Given the description of an element on the screen output the (x, y) to click on. 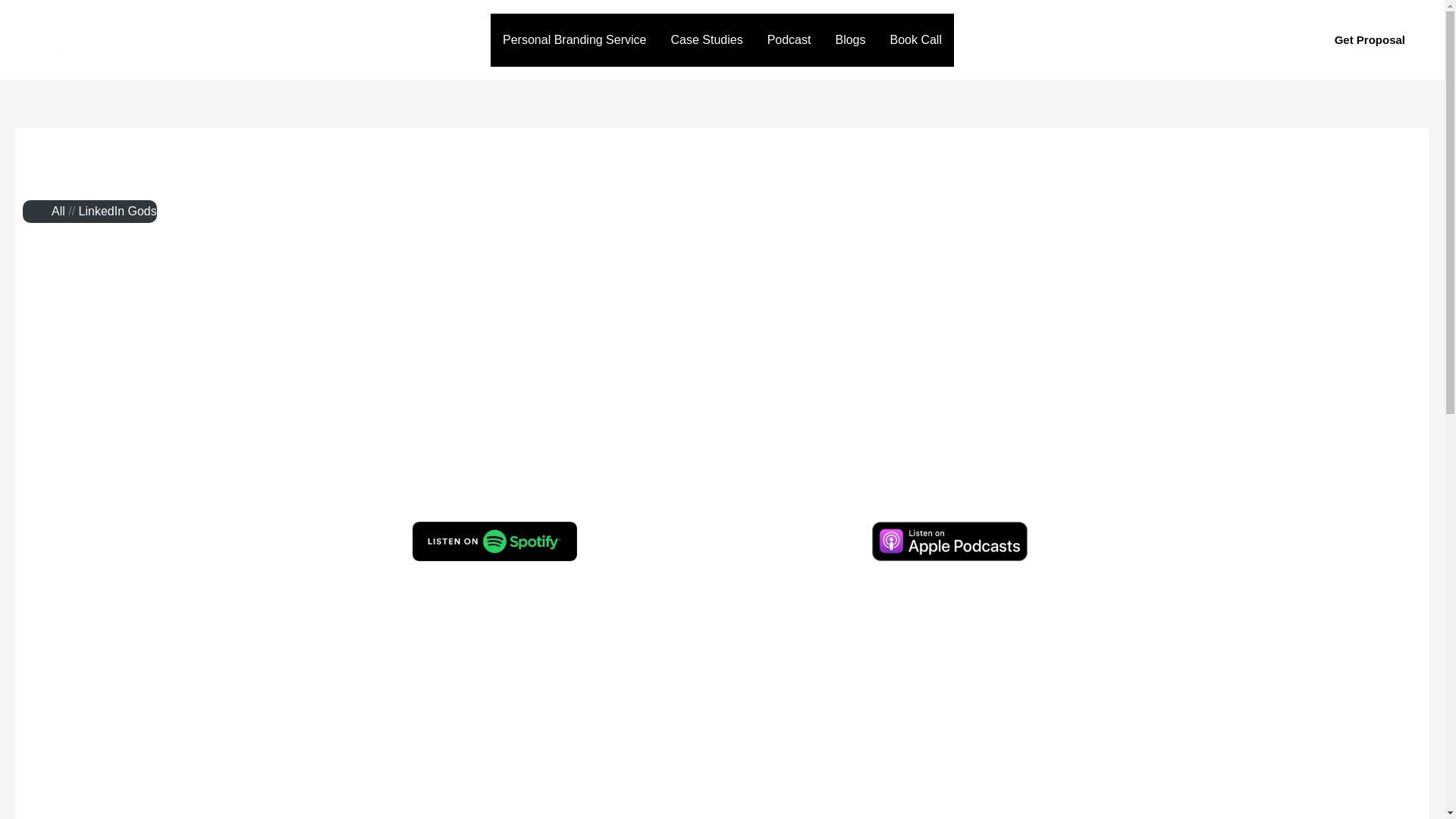
Case Studies (706, 39)
All (57, 210)
Get Proposal (1369, 39)
LinkedIn Gods (117, 210)
Blogs (849, 39)
Podcast (789, 39)
Personal Branding Service (574, 39)
LinkedIn Gods (117, 210)
Book Call (915, 39)
All (57, 210)
